Given the description of an element on the screen output the (x, y) to click on. 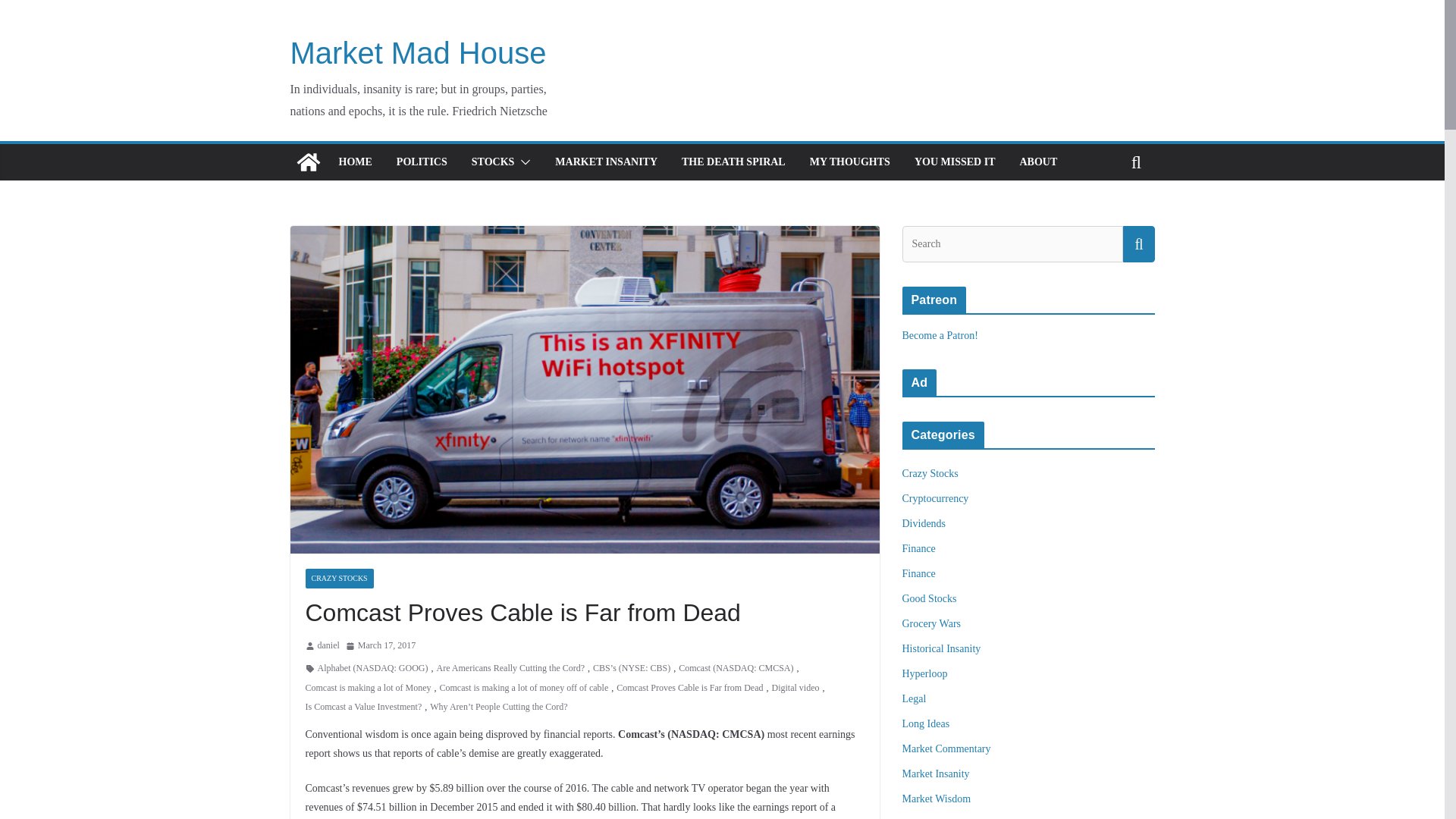
2:25 pm (380, 646)
March 17, 2017 (380, 646)
YOU MISSED IT (954, 161)
Are Americans Really Cutting the Cord? (510, 668)
Comcast is making a lot of Money (367, 688)
ABOUT (1038, 161)
Is Comcast a Value Investment? (363, 707)
Market Mad House (417, 52)
MY THOUGHTS (849, 161)
MARKET INSANITY (606, 161)
Market Mad House (307, 162)
CRAZY STOCKS (338, 578)
daniel (328, 646)
Market Mad House (417, 52)
STOCKS (493, 161)
